Given the description of an element on the screen output the (x, y) to click on. 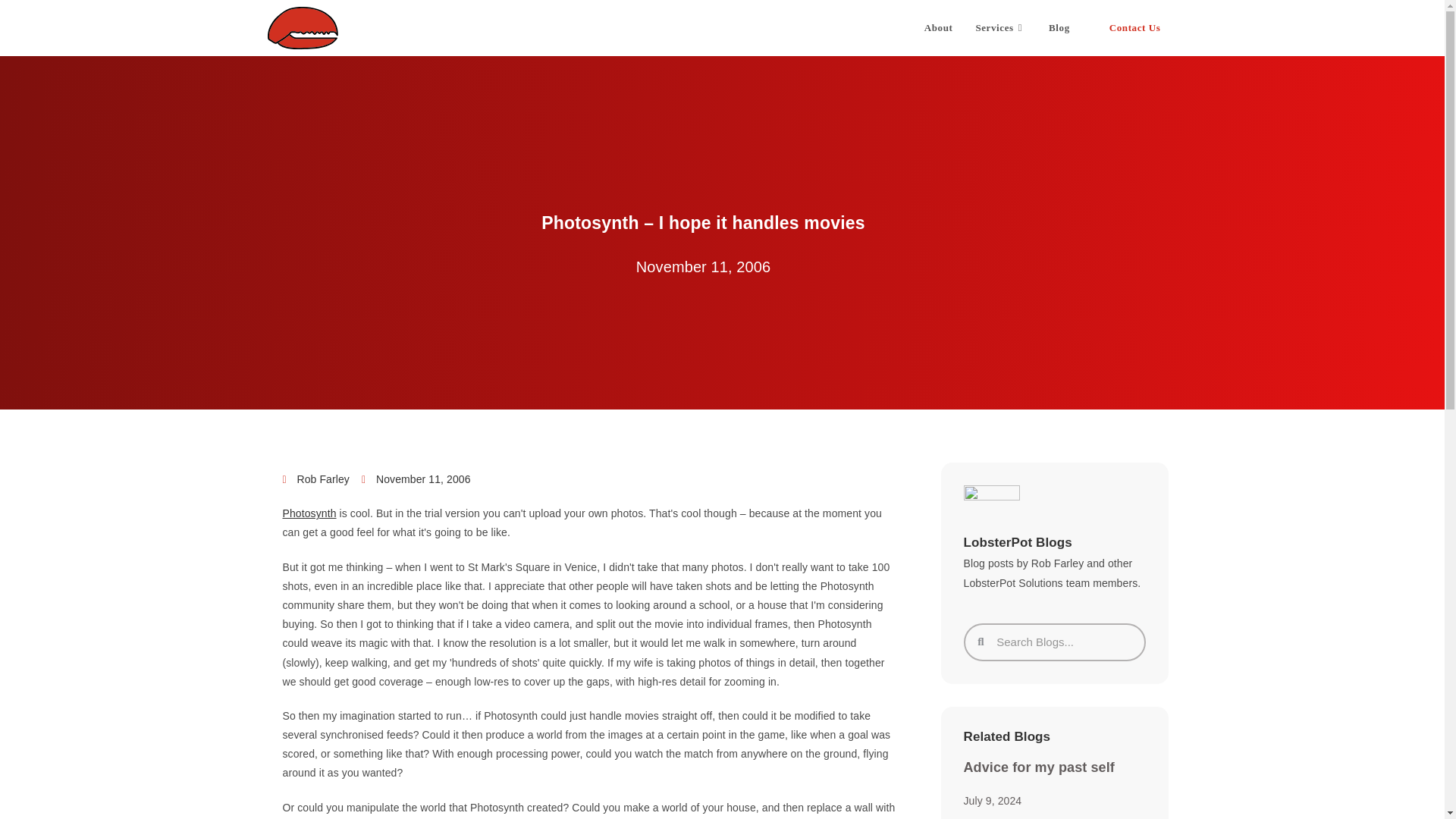
Contact Us (1135, 28)
Services (999, 28)
Rob Farley (315, 479)
November 11, 2006 (415, 479)
Advice for my past self (1037, 767)
Ready or not (1004, 818)
About (937, 28)
Photosynth (309, 512)
